Given the description of an element on the screen output the (x, y) to click on. 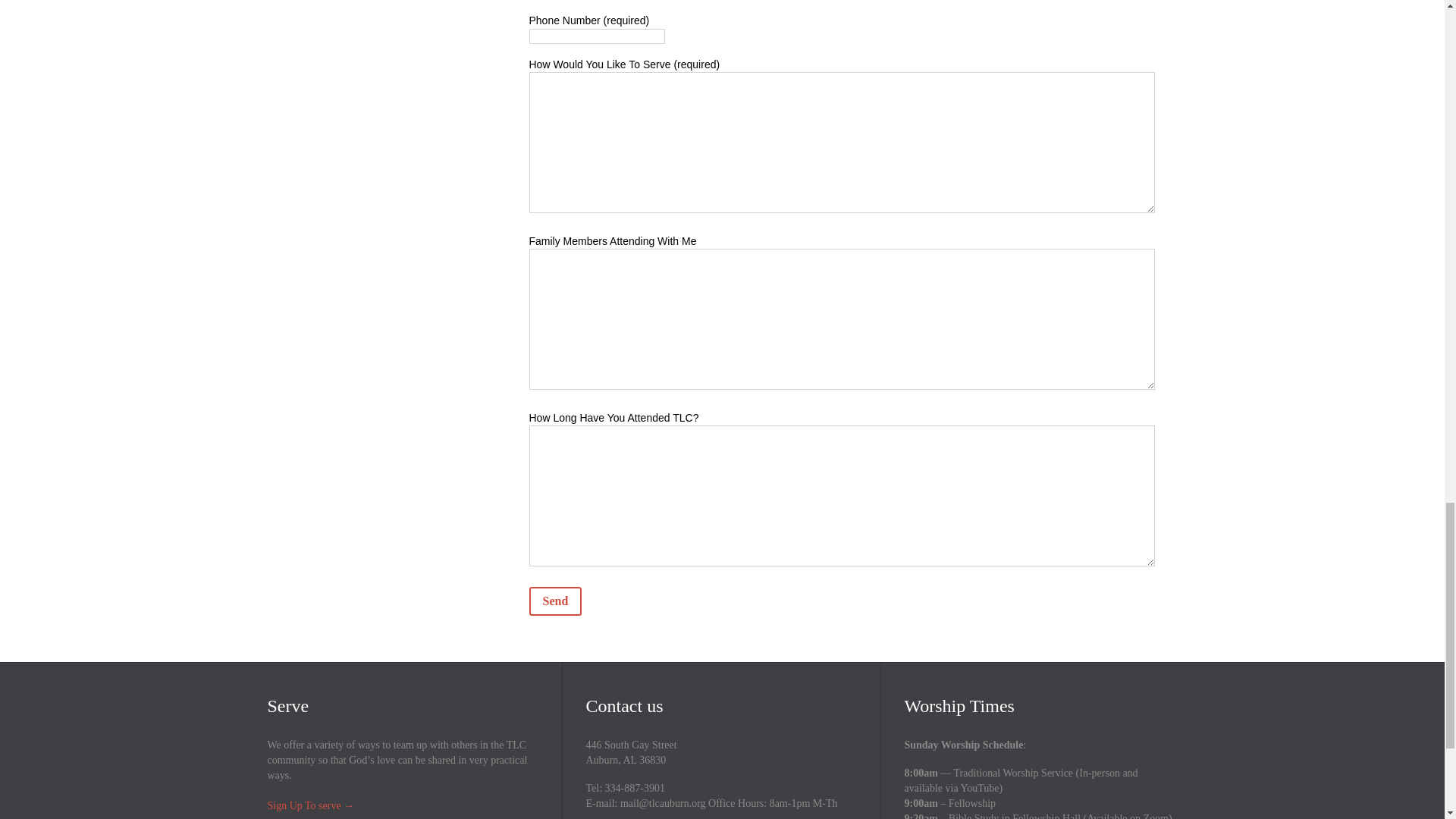
Send (555, 601)
Send (555, 601)
Sign Up To serve (303, 805)
